Given the description of an element on the screen output the (x, y) to click on. 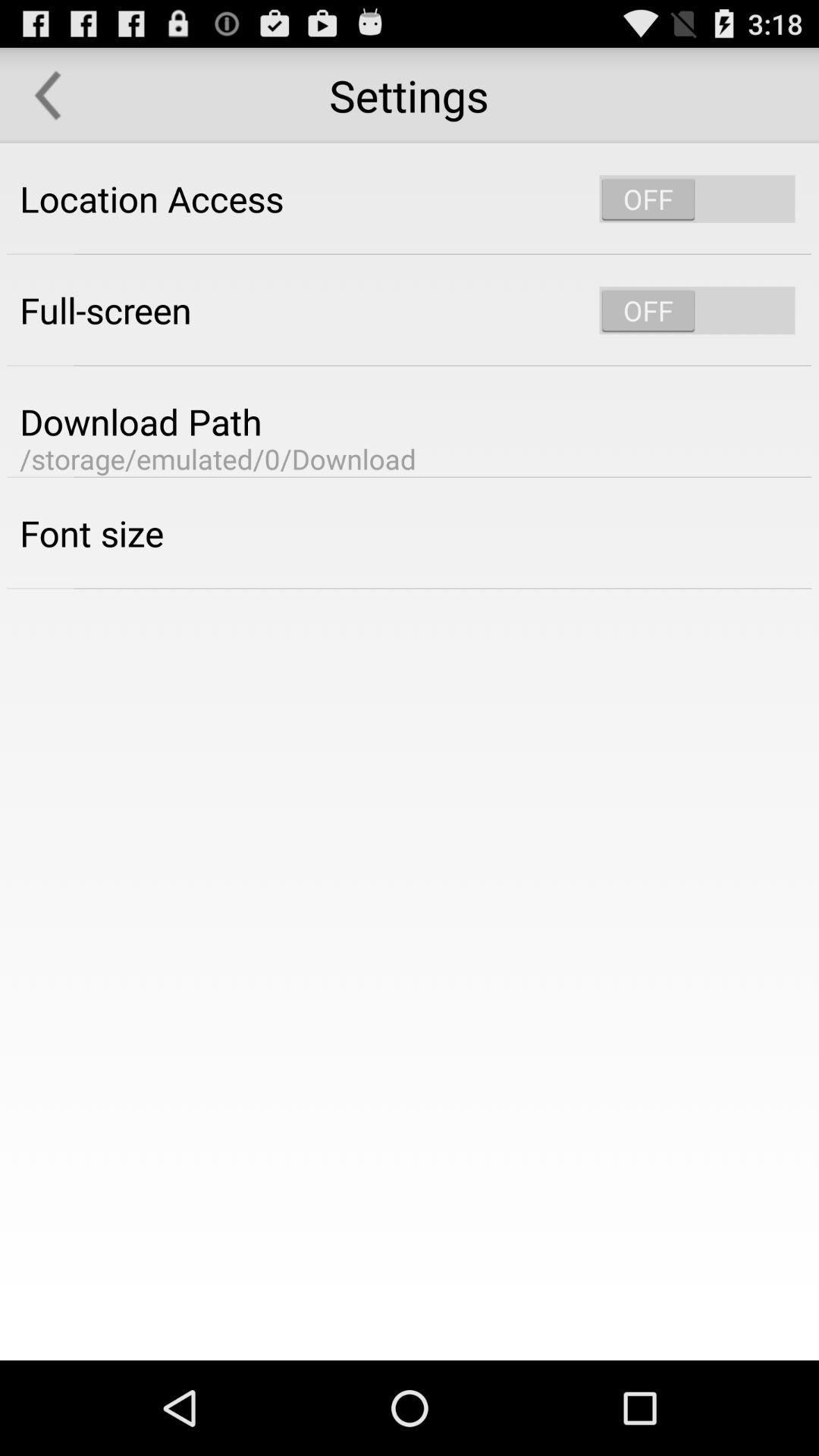
location activation slider (697, 198)
